Given the description of an element on the screen output the (x, y) to click on. 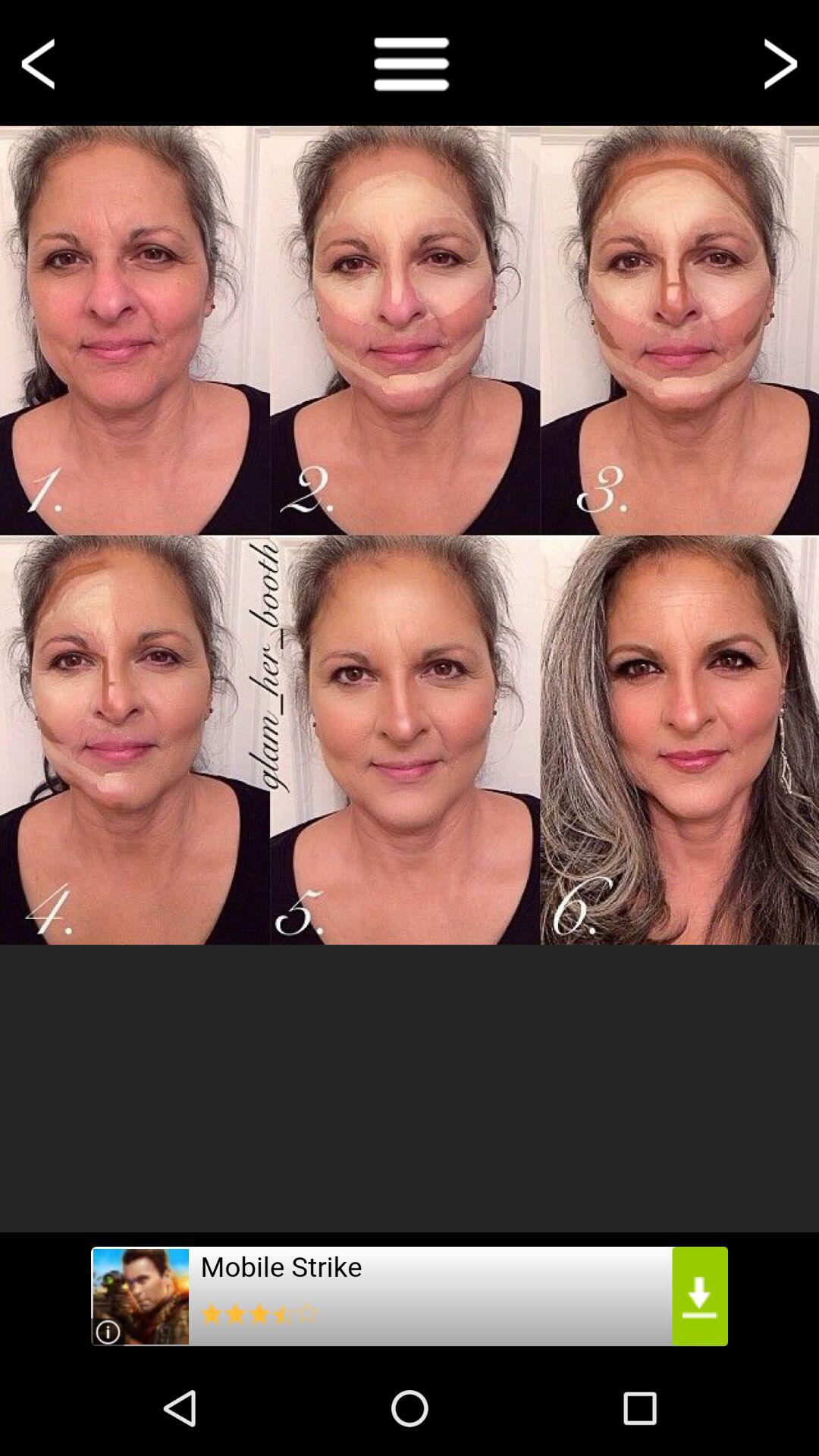
go to menu (409, 62)
